Given the description of an element on the screen output the (x, y) to click on. 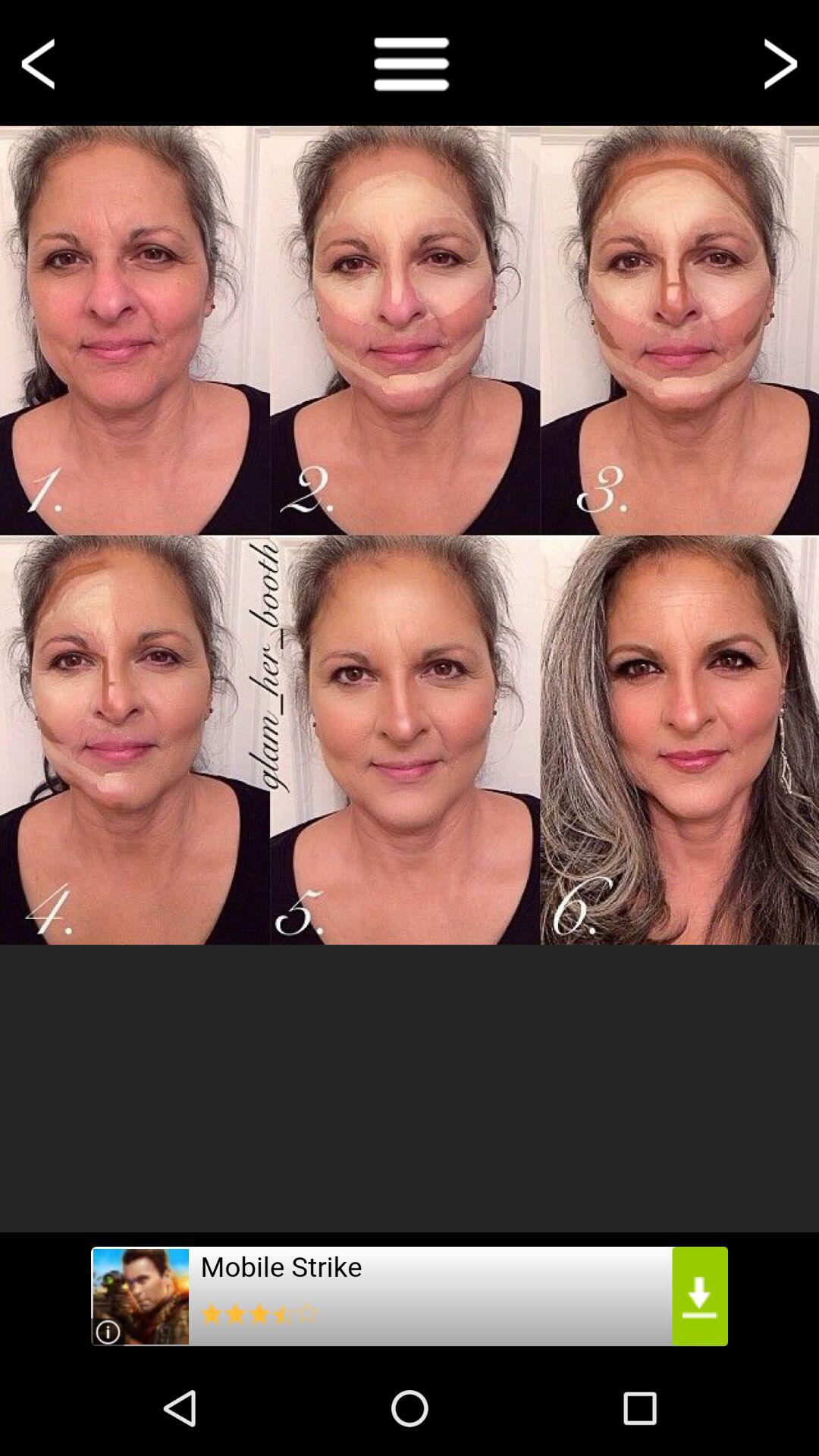
go to menu (409, 62)
